Given the description of an element on the screen output the (x, y) to click on. 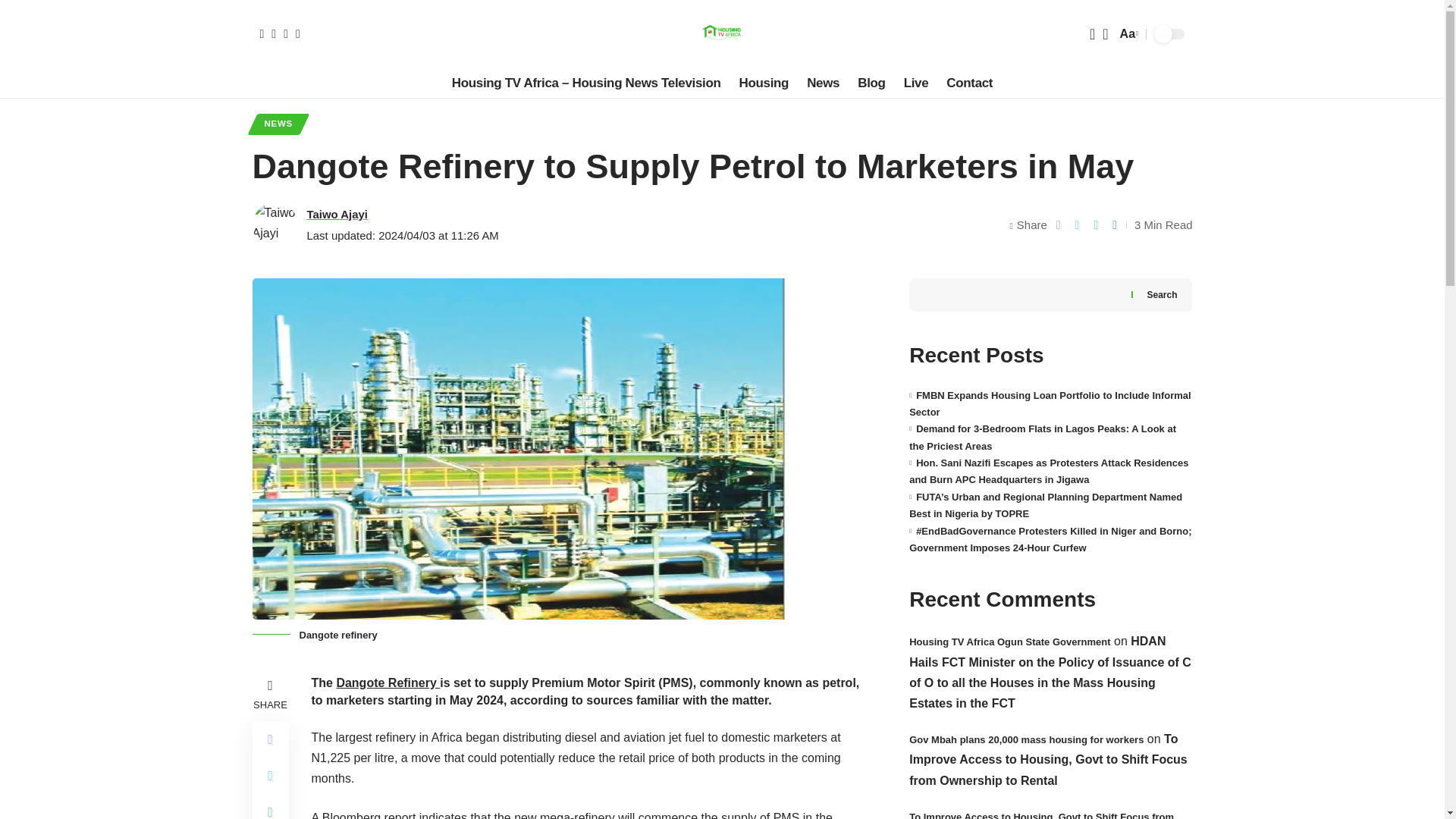
Taiwo Ajayi (336, 213)
Live (916, 82)
Contact (969, 82)
News (822, 82)
NEWS (277, 124)
Aa (1127, 33)
Housing TV Africa (721, 33)
Blog (870, 82)
Housing (763, 82)
